Given the description of an element on the screen output the (x, y) to click on. 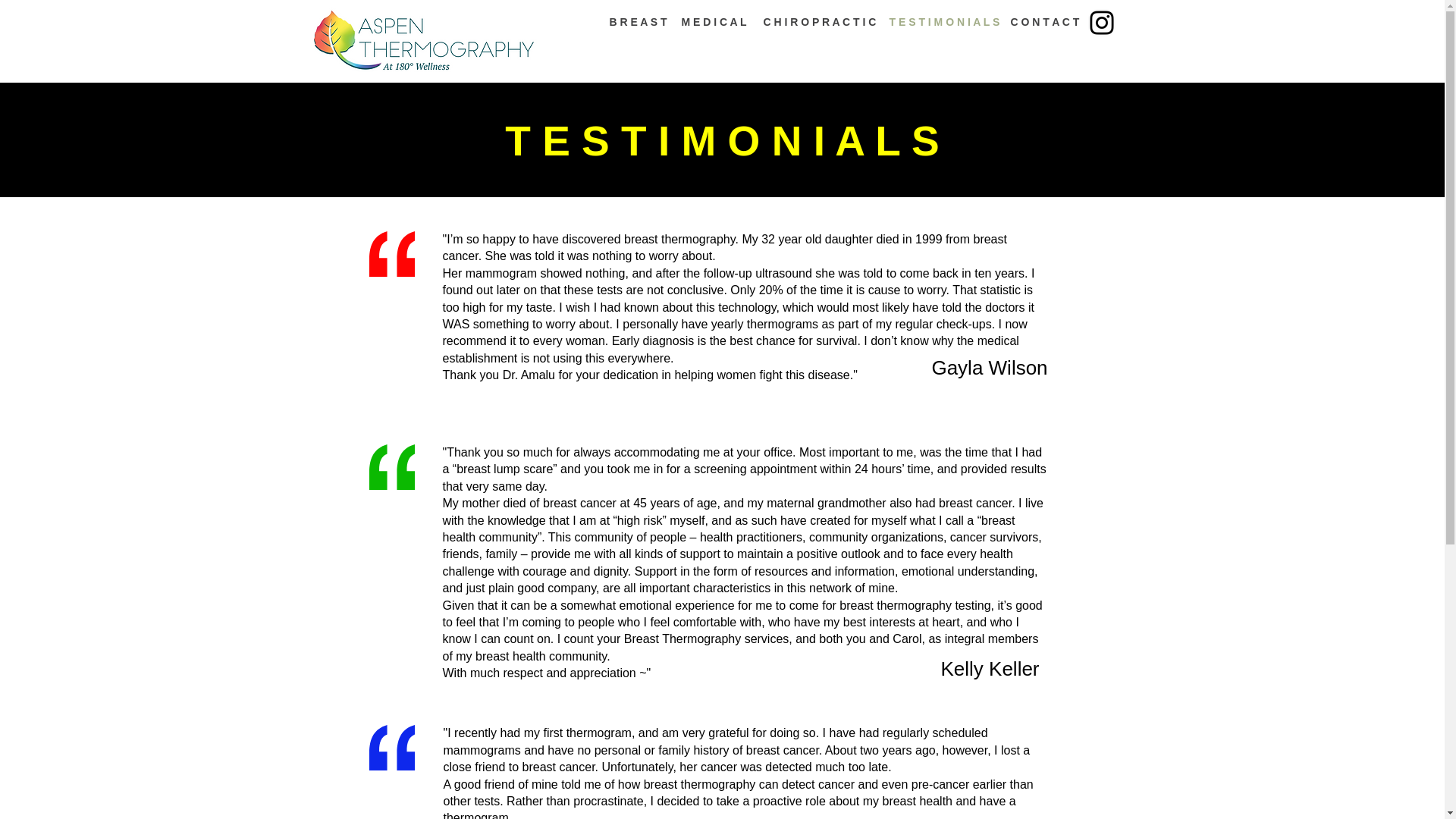
M E D I C A L (710, 22)
T E S T I M O N I A L S (937, 22)
B R E A S T (632, 22)
C H I R O P R A C T I C (814, 22)
C O N T A C T (1042, 22)
